Given the description of an element on the screen output the (x, y) to click on. 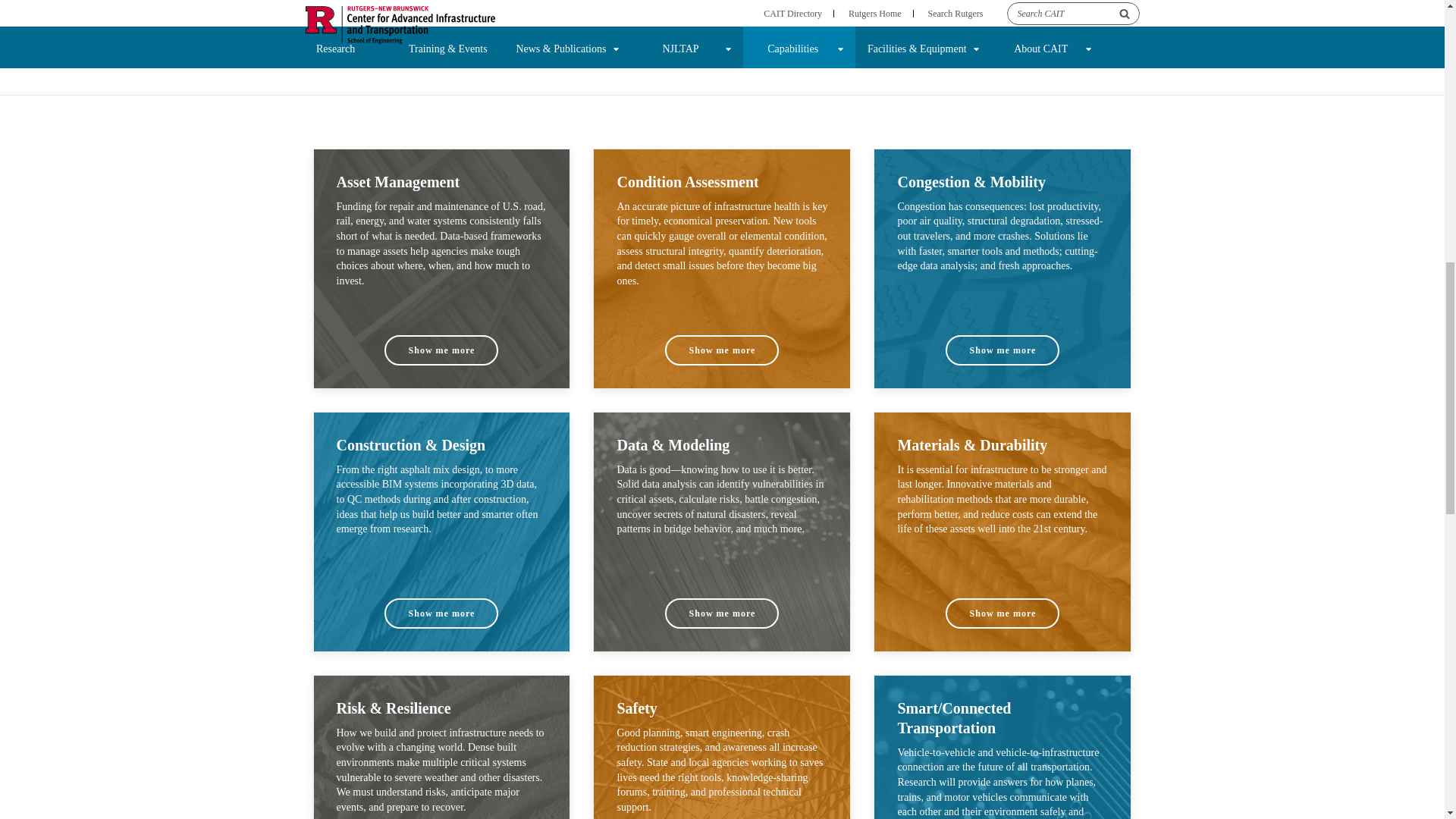
Show me more (721, 349)
Show me more (1001, 349)
Show me more (1001, 613)
Show me more (721, 613)
Show me more (440, 349)
Show me more (440, 613)
